Given the description of an element on the screen output the (x, y) to click on. 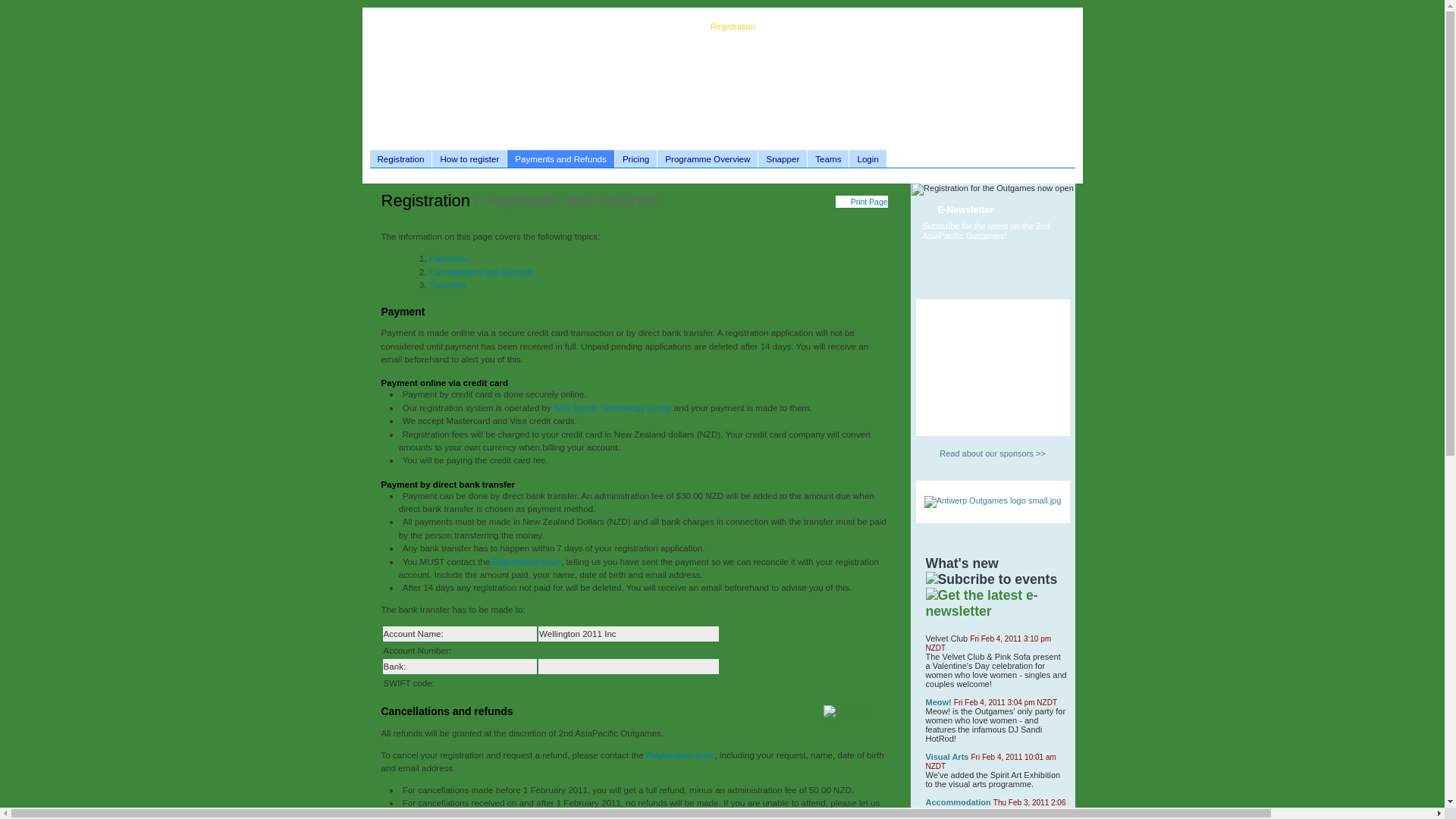
Payments (448, 257)
Registration for the Outgames now open (992, 189)
Our Sponsors (790, 26)
Registration (732, 26)
Pricing (635, 158)
Registration team (526, 561)
Registration team (680, 755)
Cancellations and Refunds (481, 271)
Back to top (856, 713)
Media (839, 26)
Snapper (782, 158)
Programme Overview (707, 158)
Transfers (447, 284)
Search (985, 26)
How to register (469, 158)
